Given the description of an element on the screen output the (x, y) to click on. 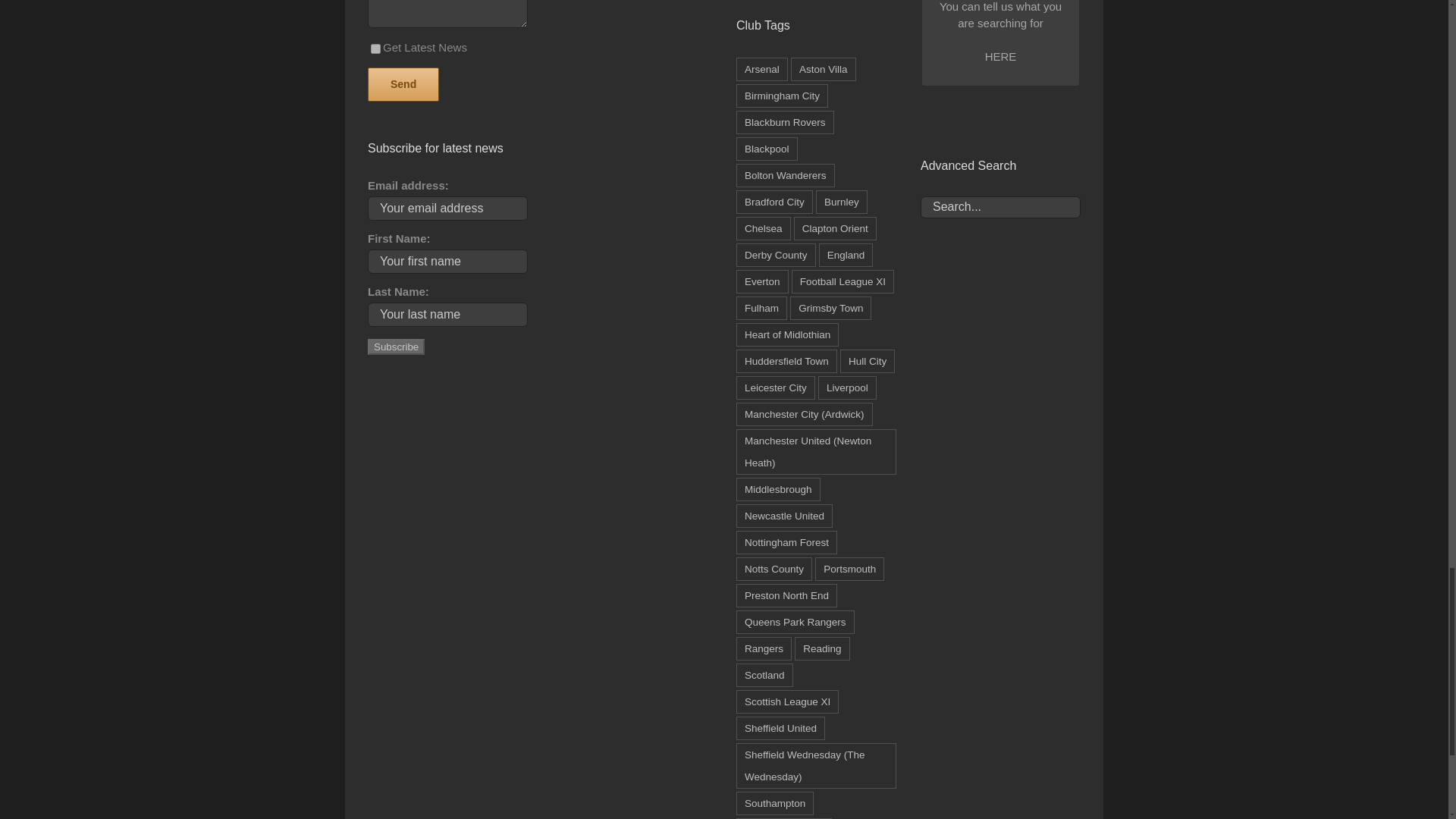
1 (1041, 110)
Send (403, 84)
1 (375, 49)
Subscribe (396, 346)
Send (999, 164)
